Given the description of an element on the screen output the (x, y) to click on. 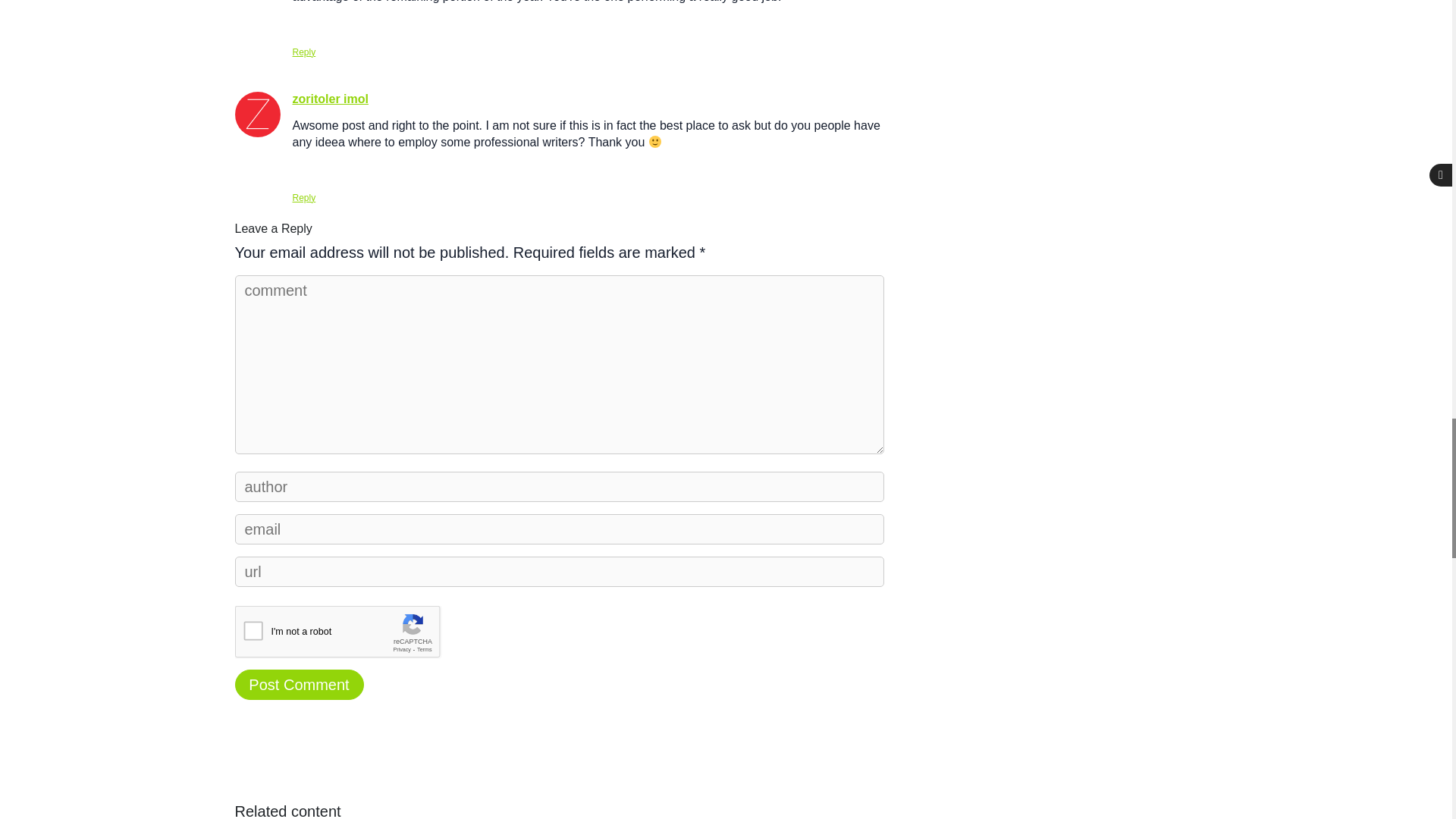
Post Comment (299, 684)
